Given the description of an element on the screen output the (x, y) to click on. 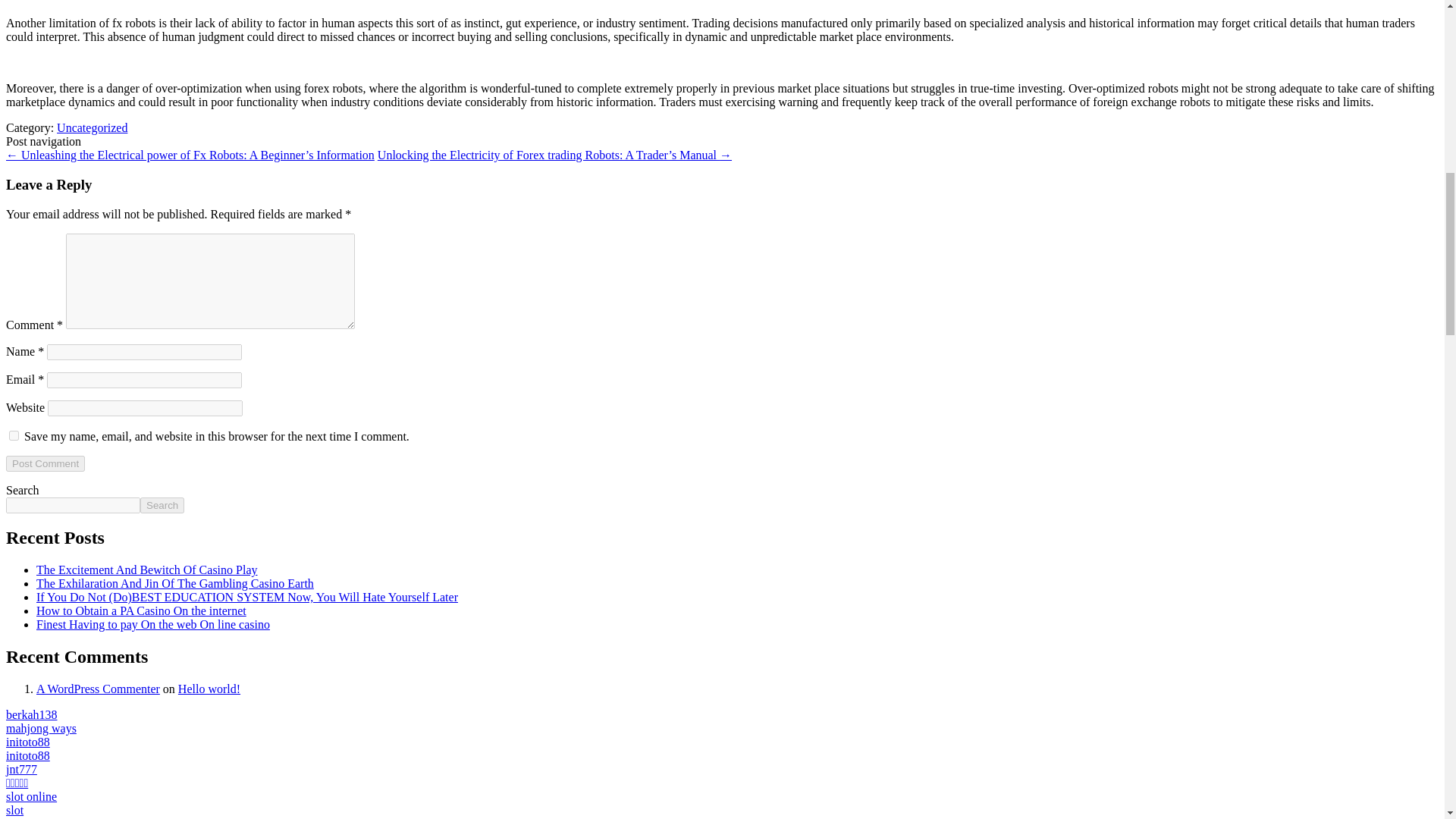
slot online (30, 796)
slot (14, 809)
How to Obtain a PA Casino On the internet (141, 610)
initoto88 (27, 741)
bambuemas88 (40, 818)
mahjong ways (41, 727)
Hello world! (208, 688)
berkah138 (31, 714)
jnt777 (21, 768)
Finest Having to pay On the web On line casino (152, 624)
Post Comment (44, 463)
initoto88 (27, 755)
Uncategorized (92, 127)
yes (13, 435)
A WordPress Commenter (98, 688)
